Given the description of an element on the screen output the (x, y) to click on. 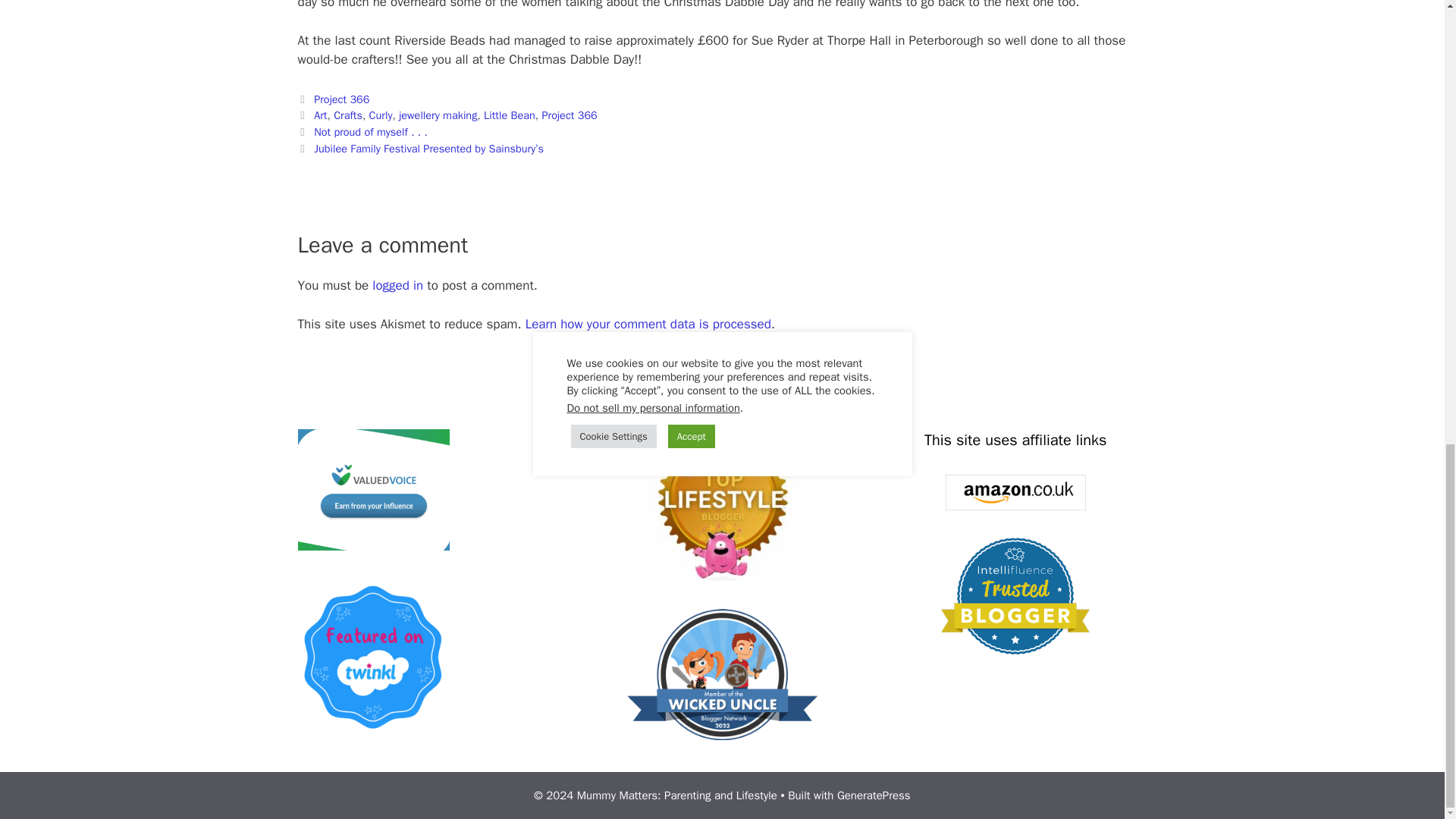
Amazon UK (1015, 492)
Scroll back to top (1406, 563)
Intellifluence Trusted Blogger (1014, 596)
